Given the description of an element on the screen output the (x, y) to click on. 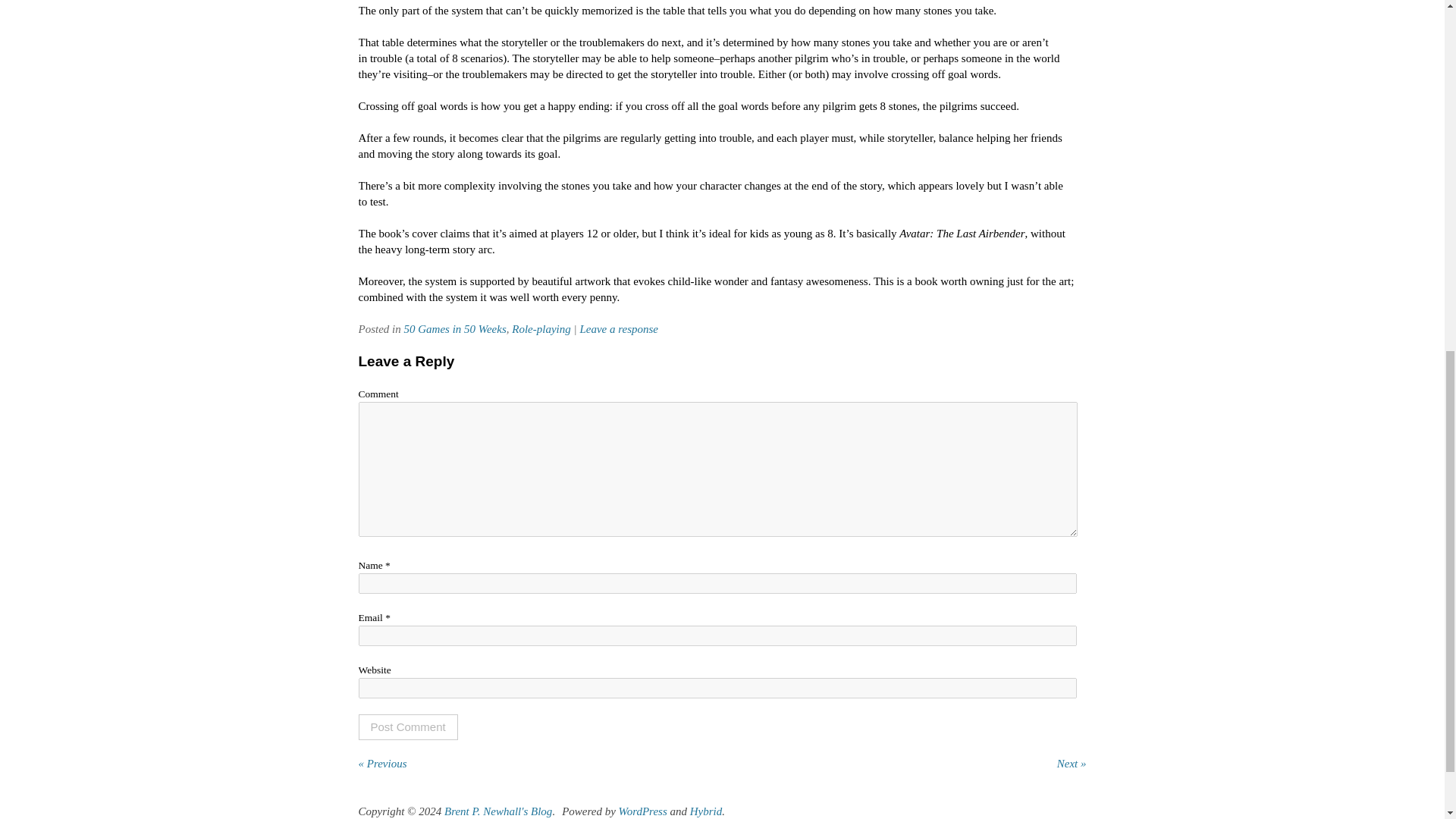
Leave a response (618, 328)
Brent P. Newhall's Blog (497, 811)
State-of-the-art semantic personal publishing platform (642, 811)
Hybrid (706, 811)
Post Comment (407, 727)
Hybrid WordPress Theme (706, 811)
50 Games in 50 Weeks (454, 328)
WordPress (642, 811)
Brent P. Newhall's Blog (497, 811)
Post Comment (407, 727)
Role-playing (541, 328)
